Given the description of an element on the screen output the (x, y) to click on. 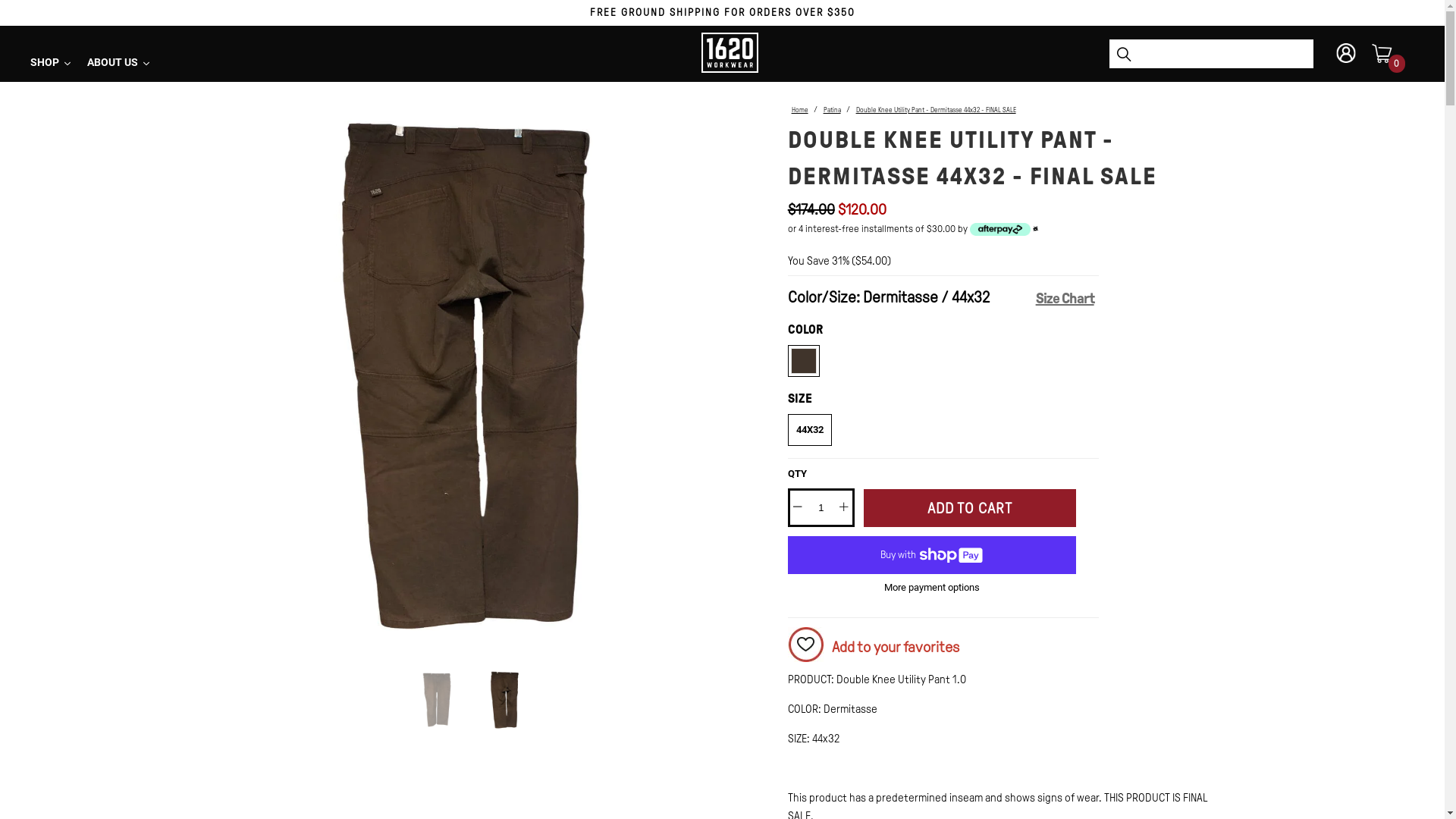
More payment options Element type: text (931, 585)
Double Knee Utility Pant - Dermitasse 44x32 - FINAL SALE Element type: text (936, 108)
1620 Workwear, Inc Element type: hover (729, 59)
My Account Element type: hover (1345, 52)
Home Element type: text (799, 108)
0 Element type: text (1381, 49)
Size Chart Element type: text (1132, 296)
ADD TO CART Element type: text (969, 508)
Add to your favorites Element type: text (1008, 648)
SHOP Element type: text (50, 62)
ABOUT US Element type: text (118, 62)
Patina Element type: text (831, 108)
